Given the description of an element on the screen output the (x, y) to click on. 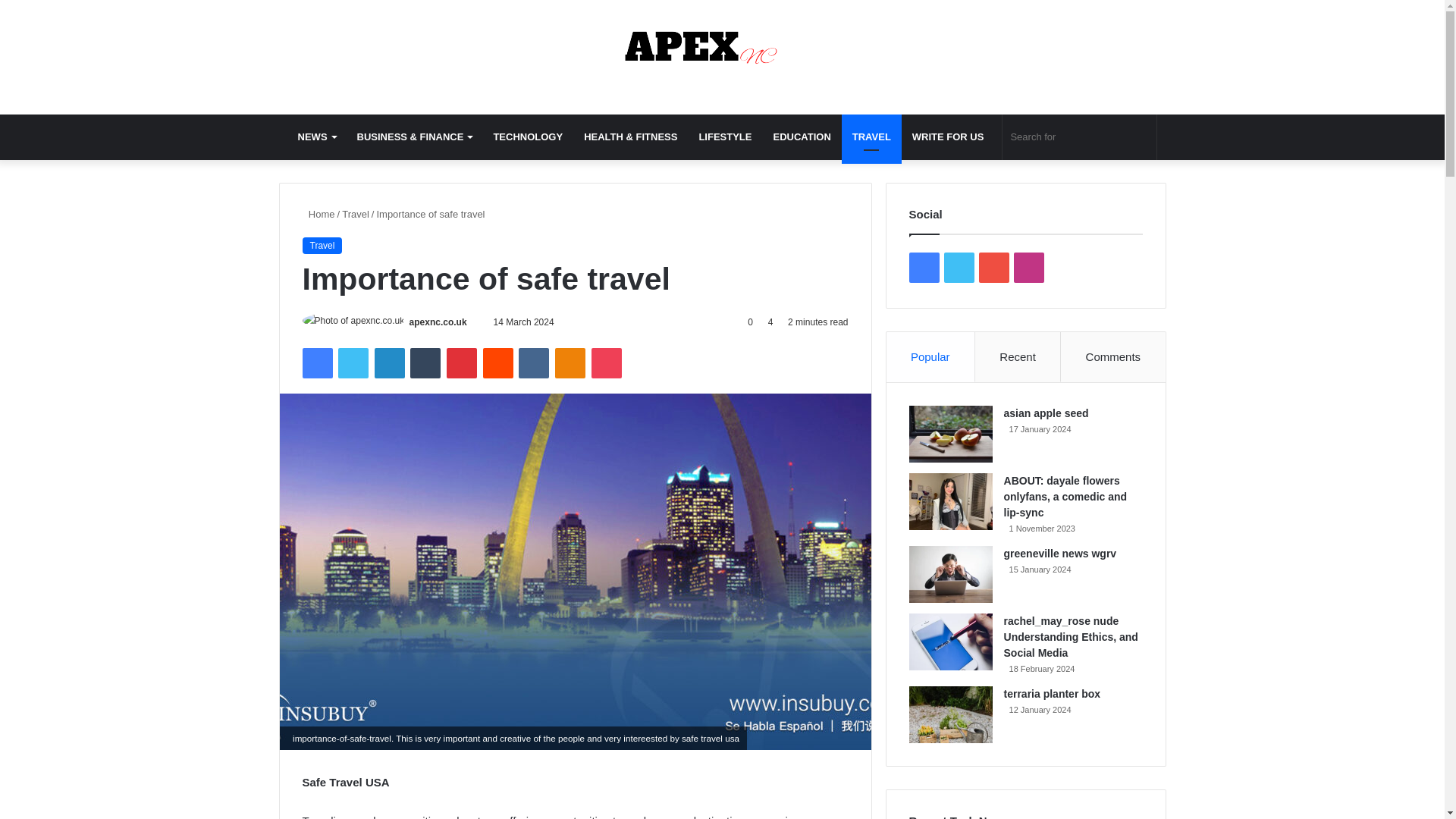
Tumblr (425, 363)
Travel (321, 245)
TECHNOLOGY (527, 136)
TRAVEL (871, 136)
Reddit (498, 363)
EDUCATION (801, 136)
Search for (1079, 136)
Odnoklassniki (569, 363)
apexnc.co.uk (438, 321)
VKontakte (533, 363)
